Given the description of an element on the screen output the (x, y) to click on. 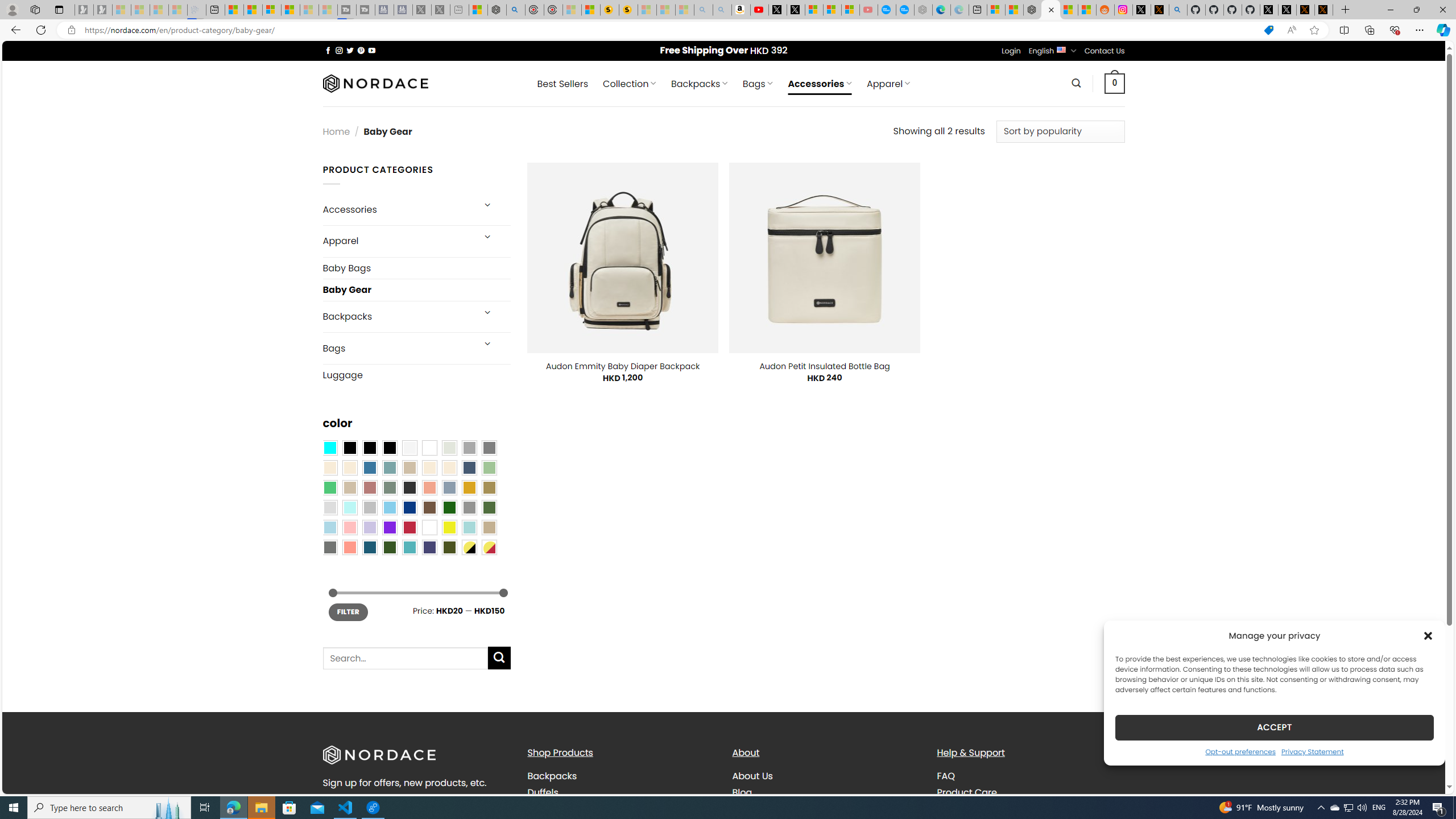
Follow on YouTube (371, 49)
Class: cmplz-close (1428, 635)
Search for: (404, 658)
Follow on Facebook (327, 49)
The most popular Google 'how to' searches (904, 9)
Baby Gear (416, 289)
Mint (349, 507)
Newsletter Sign Up - Sleeping (102, 9)
Follow on Pinterest (360, 49)
